Given the description of an element on the screen output the (x, y) to click on. 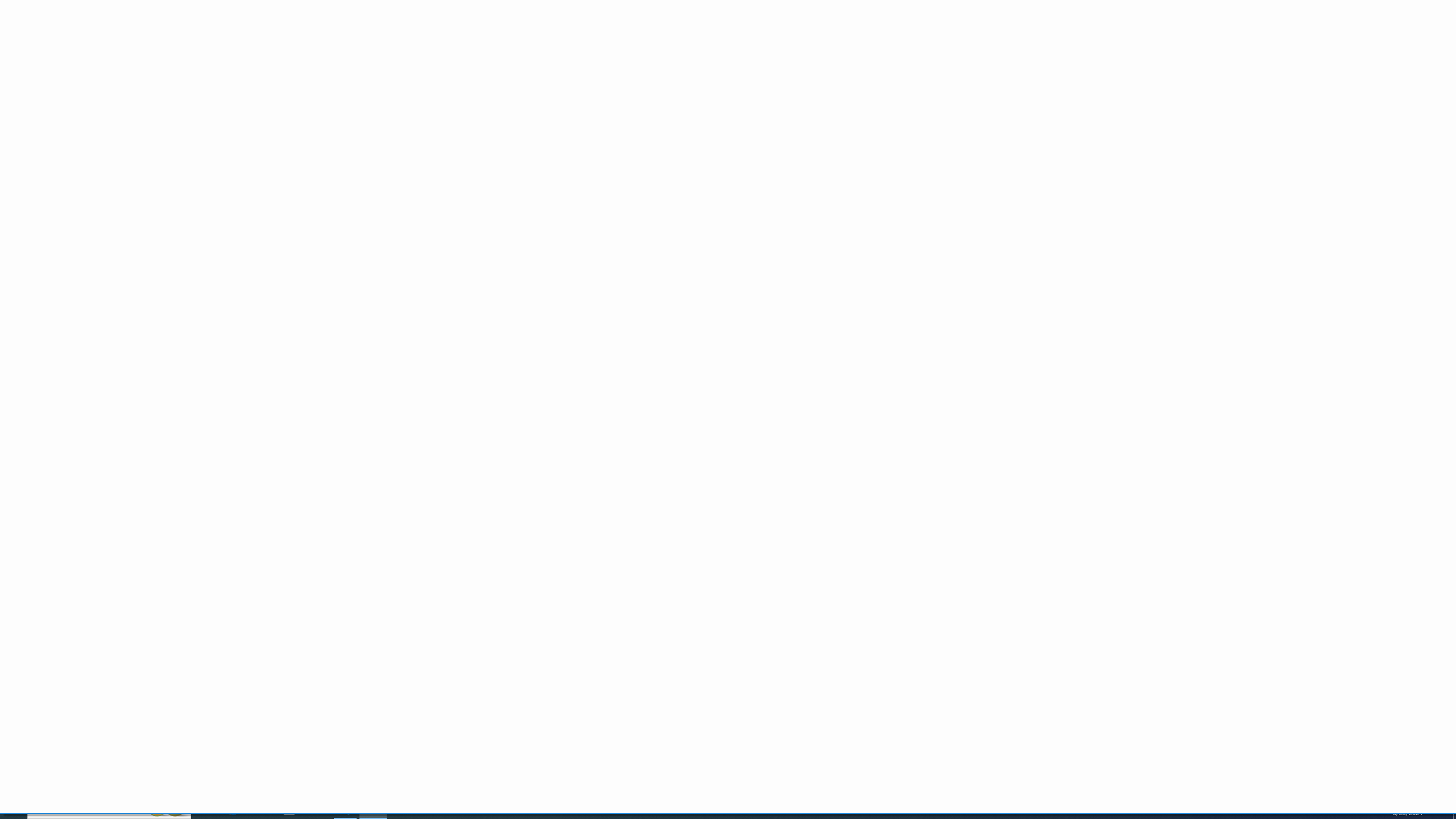
Underline (136, 67)
Fill Color RGB(255, 255, 0) (183, 67)
Number Format (455, 49)
Fill Color (188, 67)
Font Size (204, 49)
Font Color RGB(255, 0, 0) (206, 67)
Paste (16, 58)
Center (276, 67)
Insert Cells (914, 48)
